Given the description of an element on the screen output the (x, y) to click on. 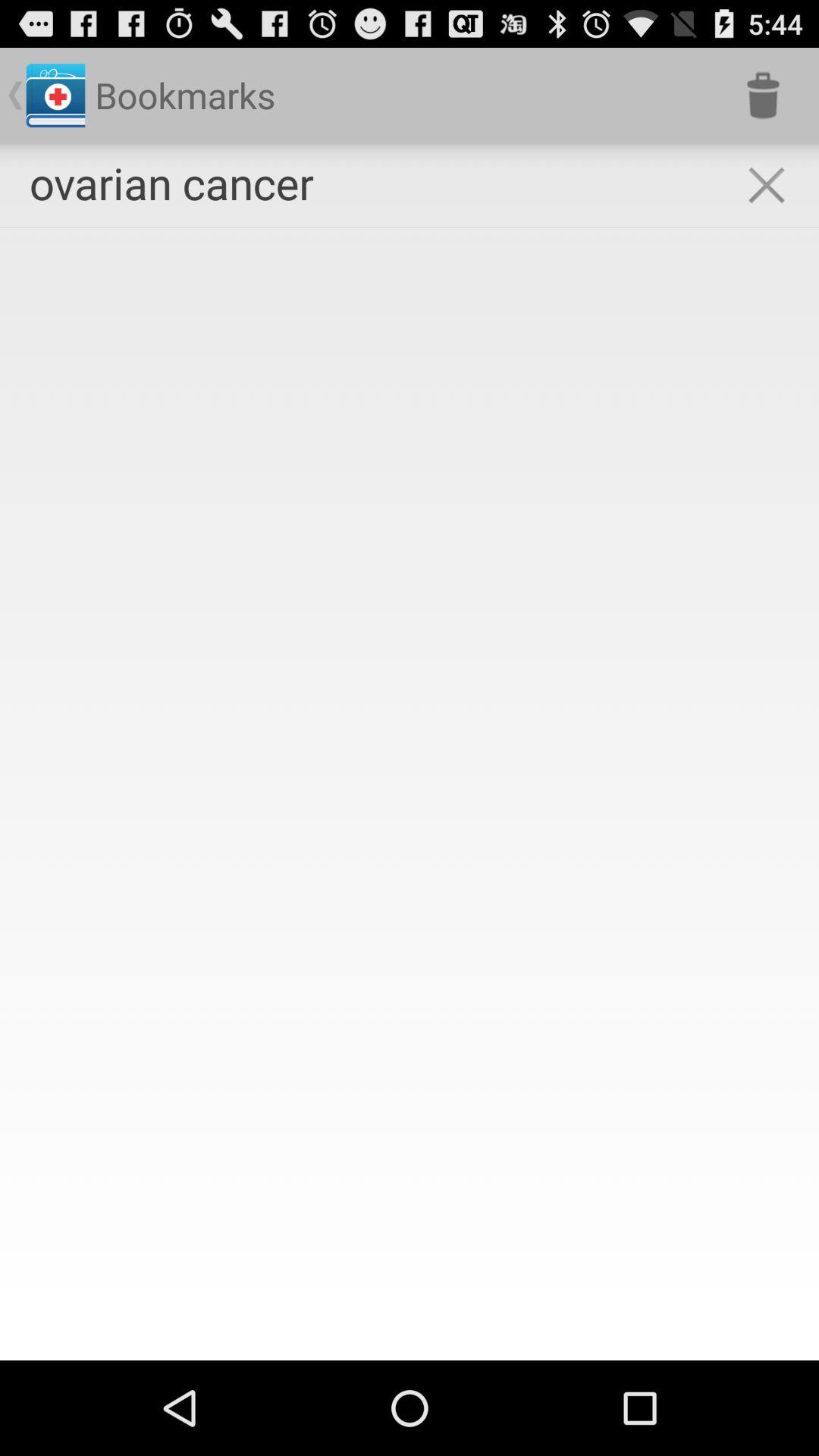
launch icon at the top (409, 226)
